Given the description of an element on the screen output the (x, y) to click on. 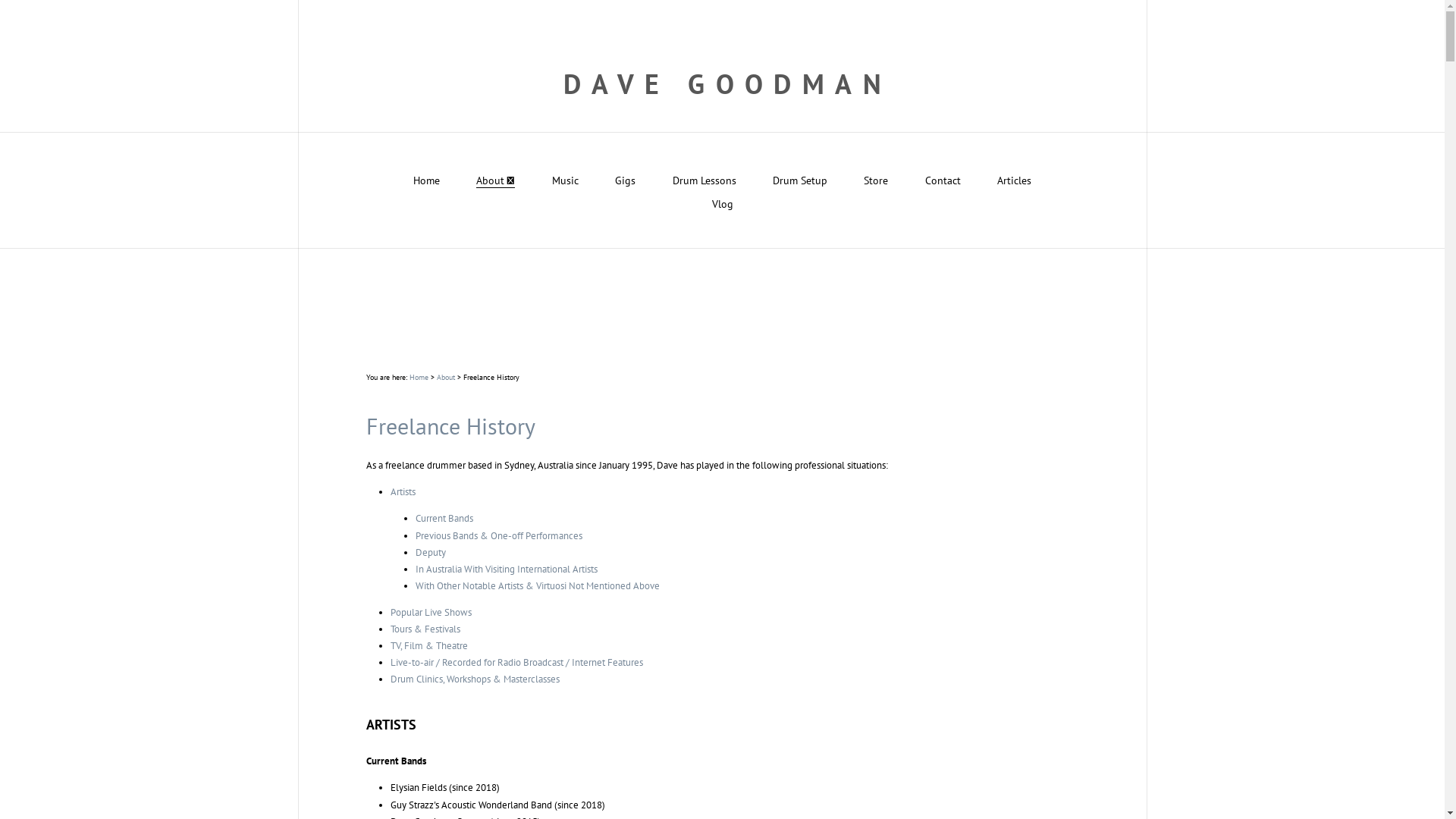
About Element type: text (495, 180)
In Australia With Visiting International Artists Element type: text (506, 568)
Popular Live Shows Element type: text (430, 611)
Current Bands Element type: text (444, 517)
Music Element type: text (565, 180)
About Element type: text (445, 376)
Previous Bands & One-off Performances Element type: text (498, 535)
DAVE GOODMAN Element type: text (721, 84)
With Other Notable Artists & Virtuosi Not Mentioned Above Element type: text (537, 585)
Vlog Element type: text (721, 203)
Store Element type: text (875, 180)
Home Element type: text (418, 376)
Drum Setup Element type: text (799, 180)
Gigs Element type: text (625, 180)
Artists Element type: text (402, 491)
Articles Element type: text (1014, 180)
Drum Lessons Element type: text (703, 180)
Contact Element type: text (942, 180)
Tours & Festivals Element type: text (425, 628)
Home Element type: text (426, 180)
Deputy Element type: text (430, 552)
TV, Film & Theatre Element type: text (428, 645)
Drum Clinics, Workshops & Masterclasses Element type: text (474, 678)
